Given the description of an element on the screen output the (x, y) to click on. 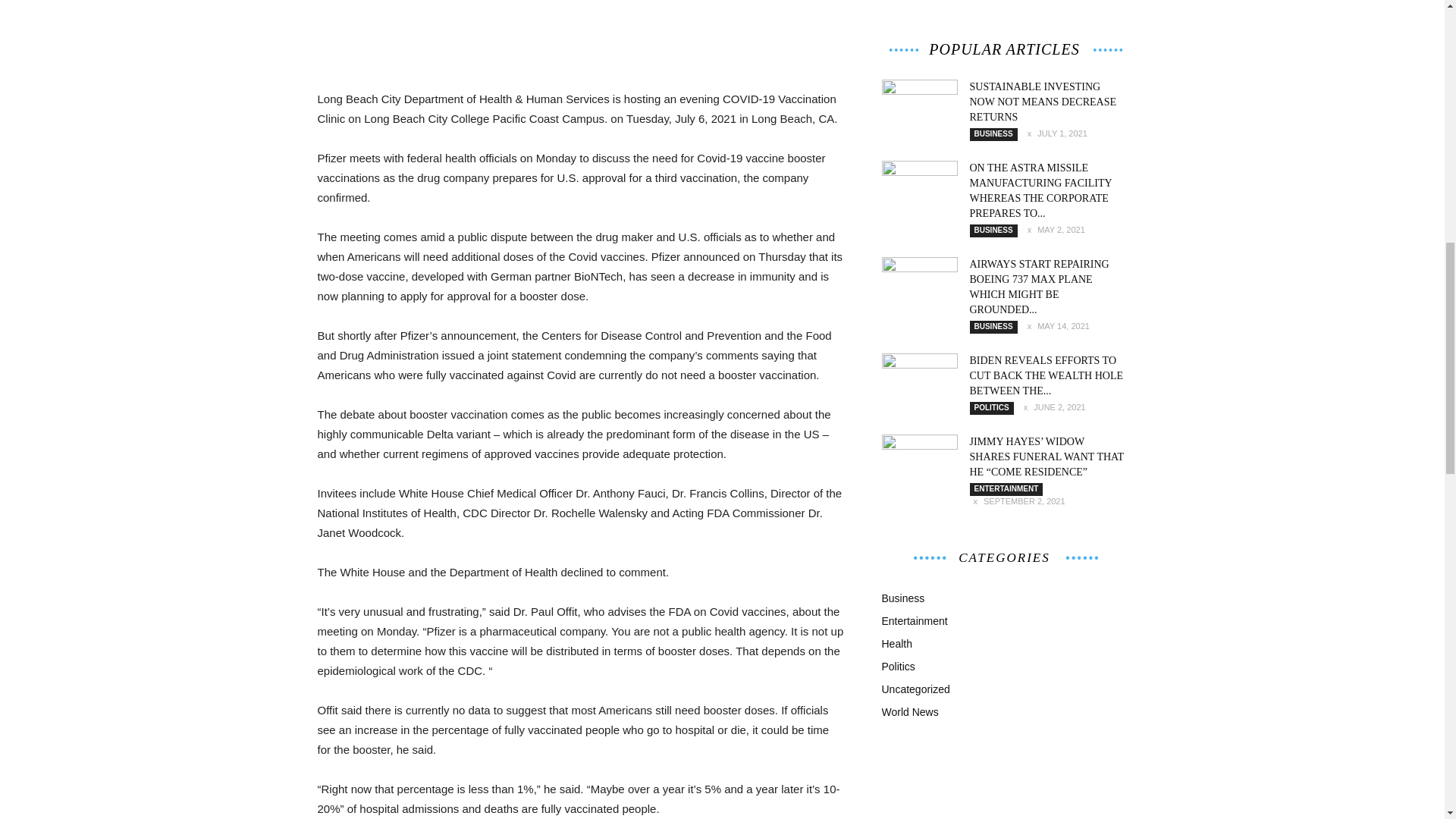
Sustainable investing now not means decrease returns (1042, 101)
Sustainable investing now not means decrease returns (918, 105)
